Given the description of an element on the screen output the (x, y) to click on. 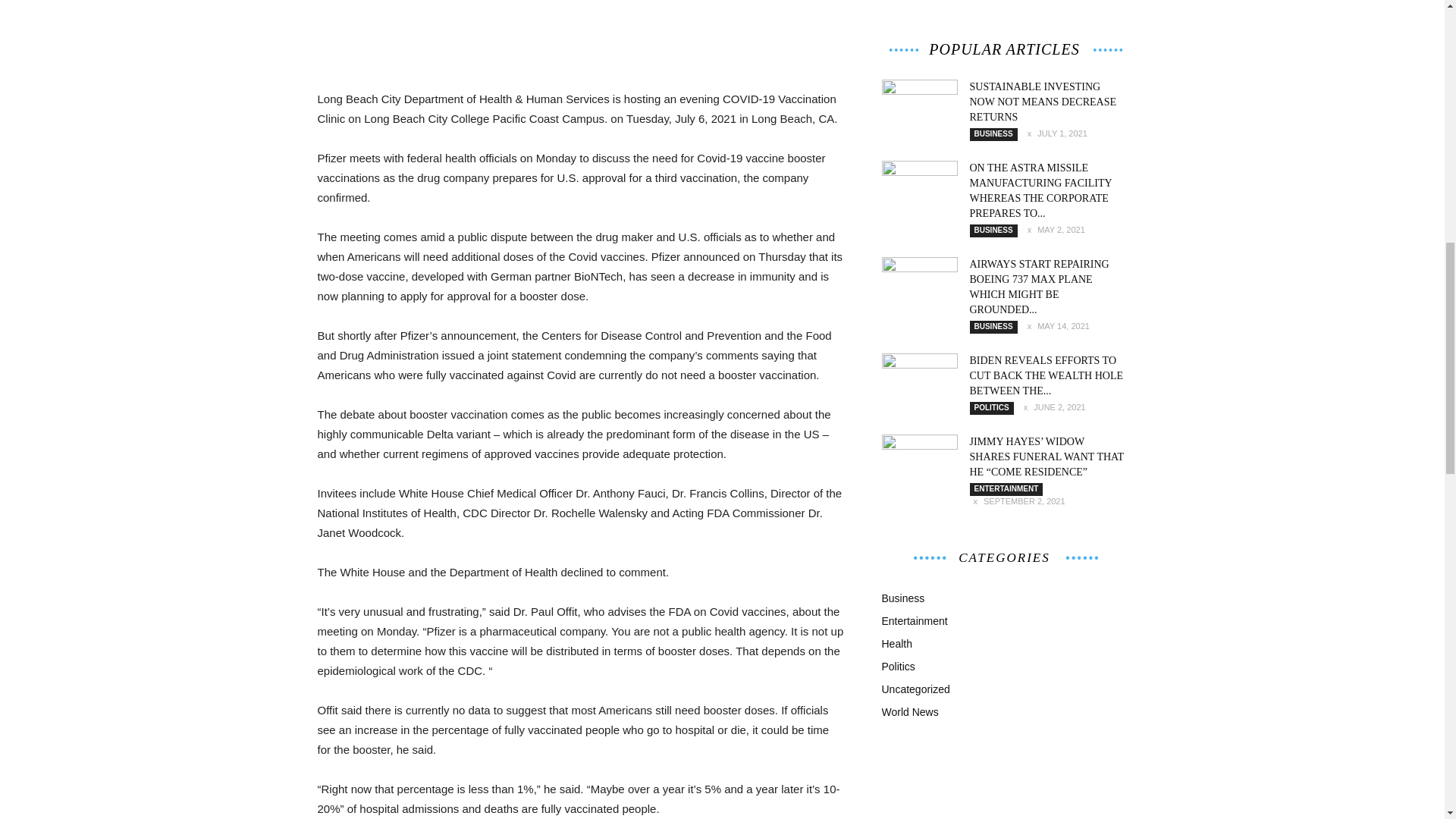
Sustainable investing now not means decrease returns (1042, 101)
Sustainable investing now not means decrease returns (918, 105)
